Given the description of an element on the screen output the (x, y) to click on. 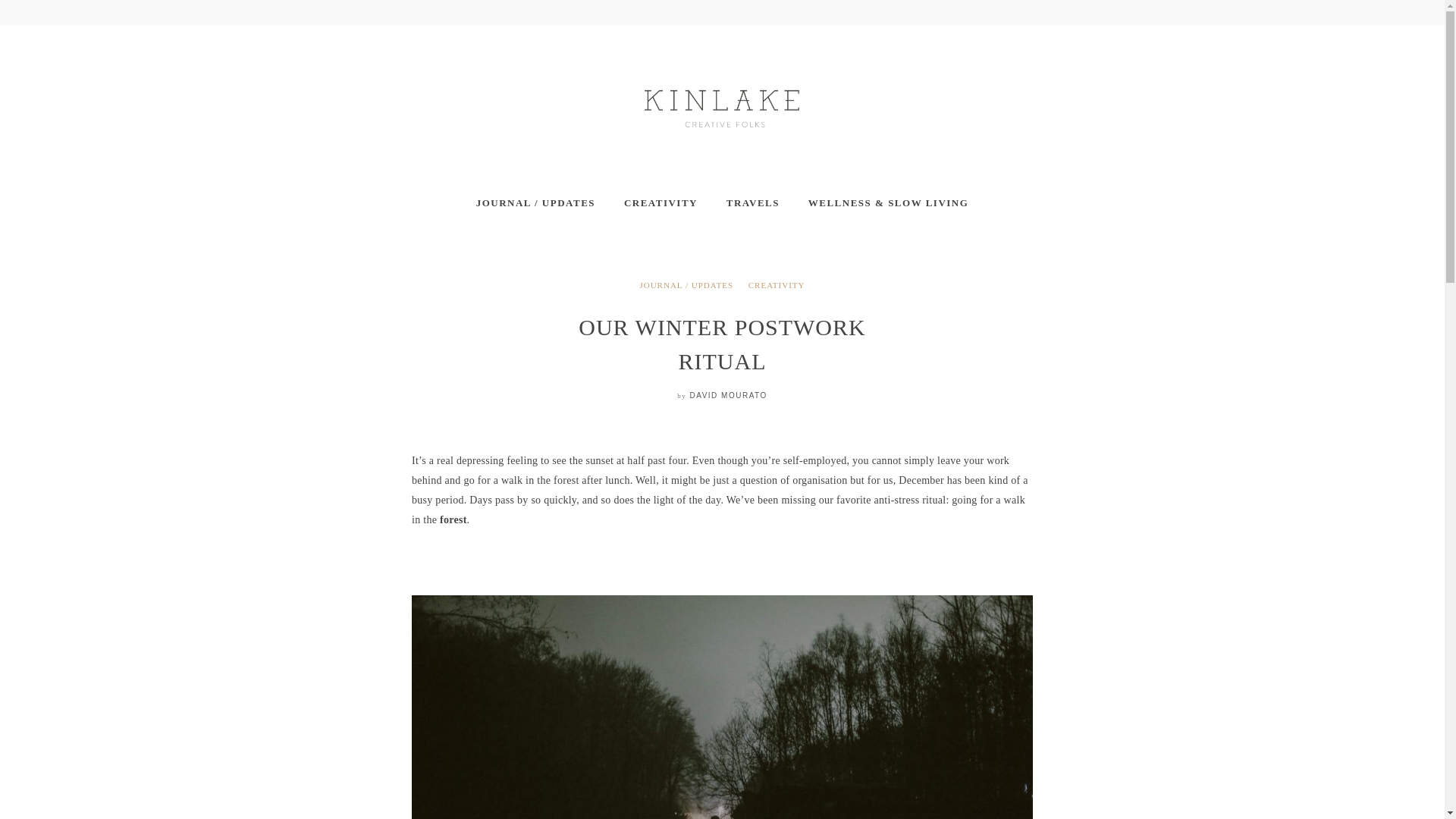
CREATIVITY (776, 284)
OUR WINTER POSTWORK RITUAL (721, 343)
DAVID MOURATO (727, 395)
CREATIVITY (660, 202)
TRAVELS (752, 202)
